Given the description of an element on the screen output the (x, y) to click on. 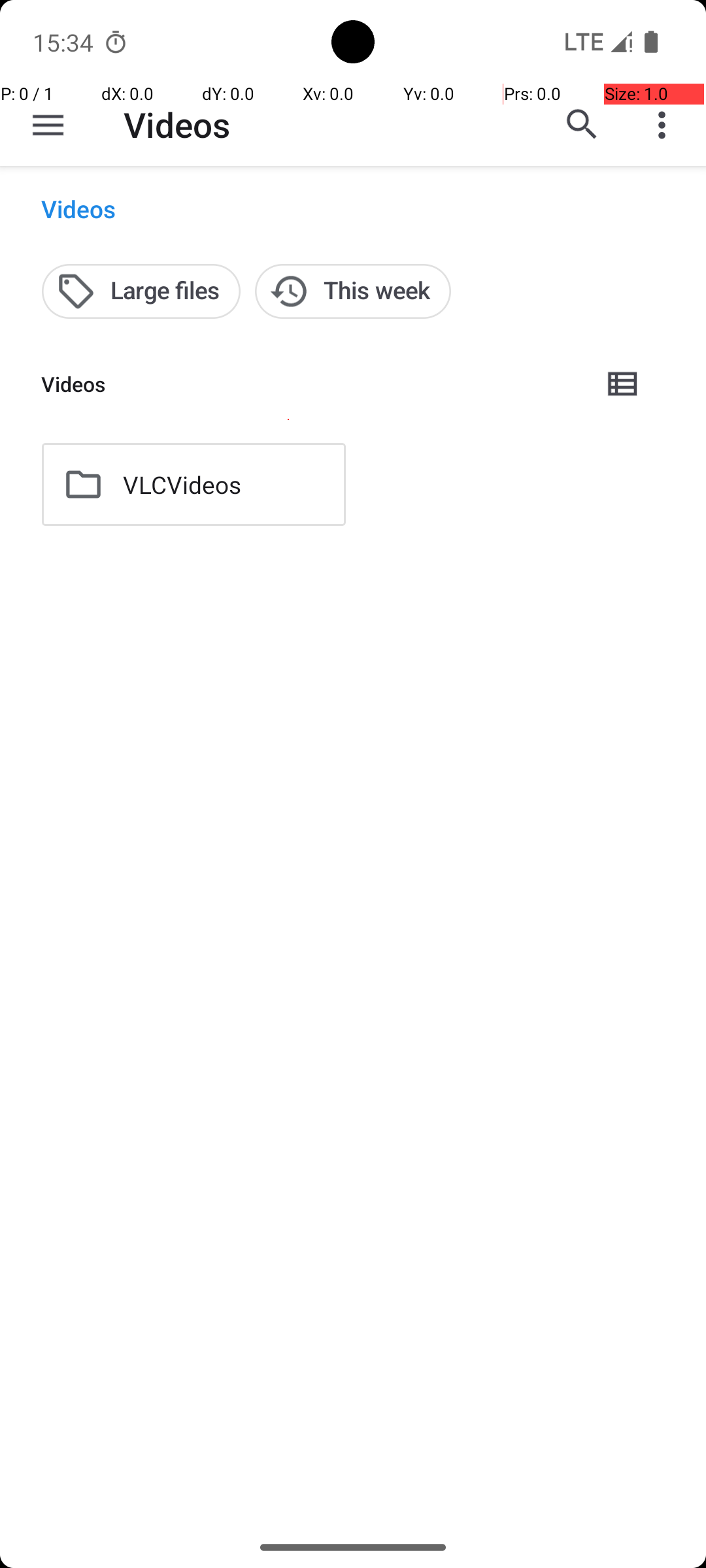
VLCVideos Element type: android.widget.TextView (181, 484)
